Given the description of an element on the screen output the (x, y) to click on. 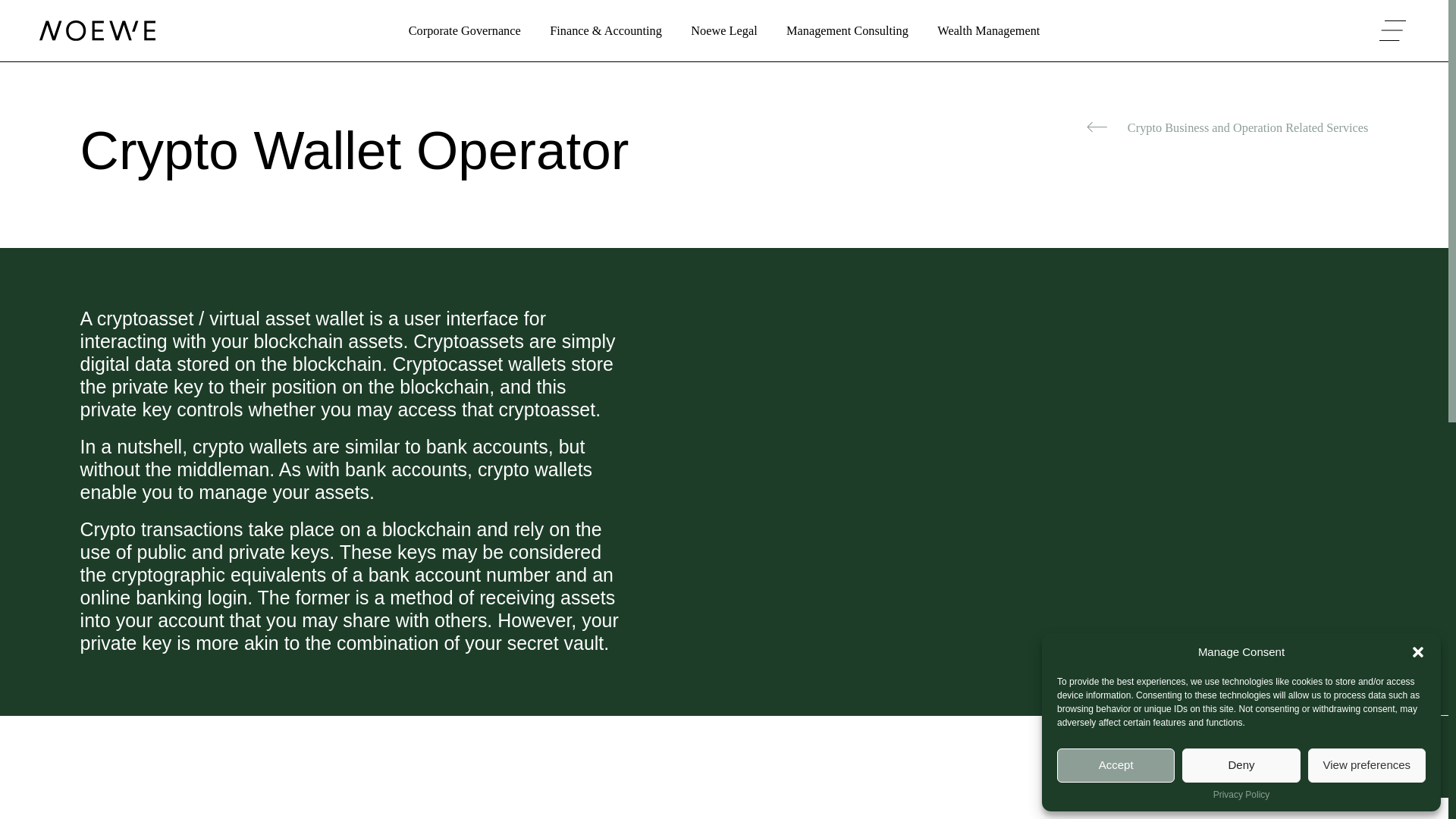
Privacy Policy (1240, 795)
Corporate Governance (465, 30)
Deny (1241, 765)
Accept (1115, 765)
Noewe Legal (723, 30)
Crypto Business and Operation Related Services (1227, 128)
Management Consulting (847, 30)
Wealth Management (988, 30)
View preferences (1366, 765)
